Given the description of an element on the screen output the (x, y) to click on. 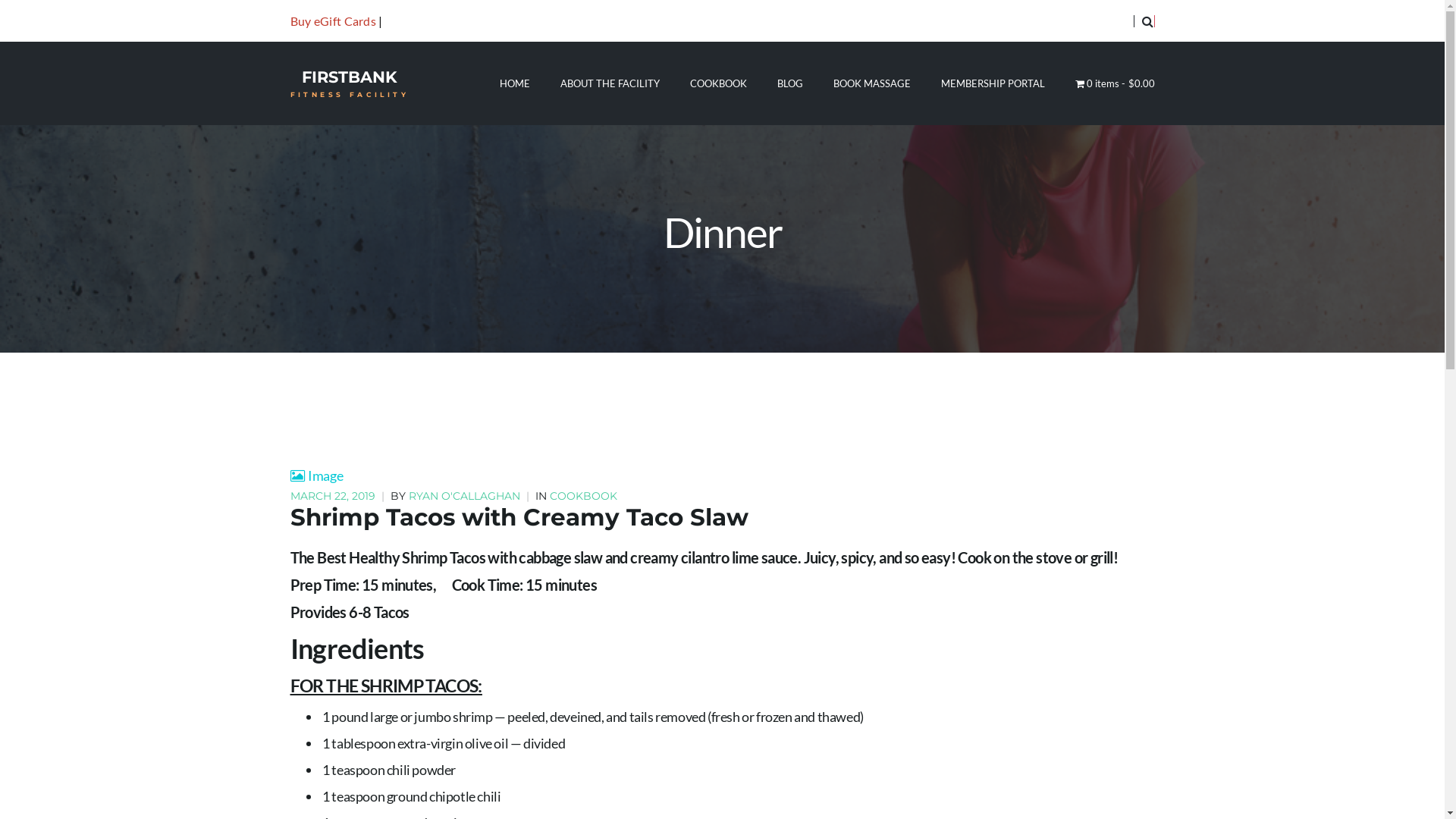
0 items$0.00 Element type: text (1114, 83)
HOME Element type: text (514, 83)
Buy eGift Cards Element type: text (332, 20)
Image Element type: text (315, 475)
RYAN O'CALLAGHAN Element type: text (463, 495)
COOKBOOK Element type: text (718, 83)
MEMBERSHIP PORTAL Element type: text (992, 83)
BOOK MASSAGE Element type: text (871, 83)
MARCH 22, 2019 Element type: text (333, 495)
ABOUT THE FACILITY Element type: text (609, 83)
Shrimp Tacos with Creamy Taco Slaw Element type: text (518, 516)
BLOG Element type: text (790, 83)
FIRSTBANK
FITNESS FACILITY Element type: text (348, 83)
COOKBOOK Element type: text (582, 495)
